Given the description of an element on the screen output the (x, y) to click on. 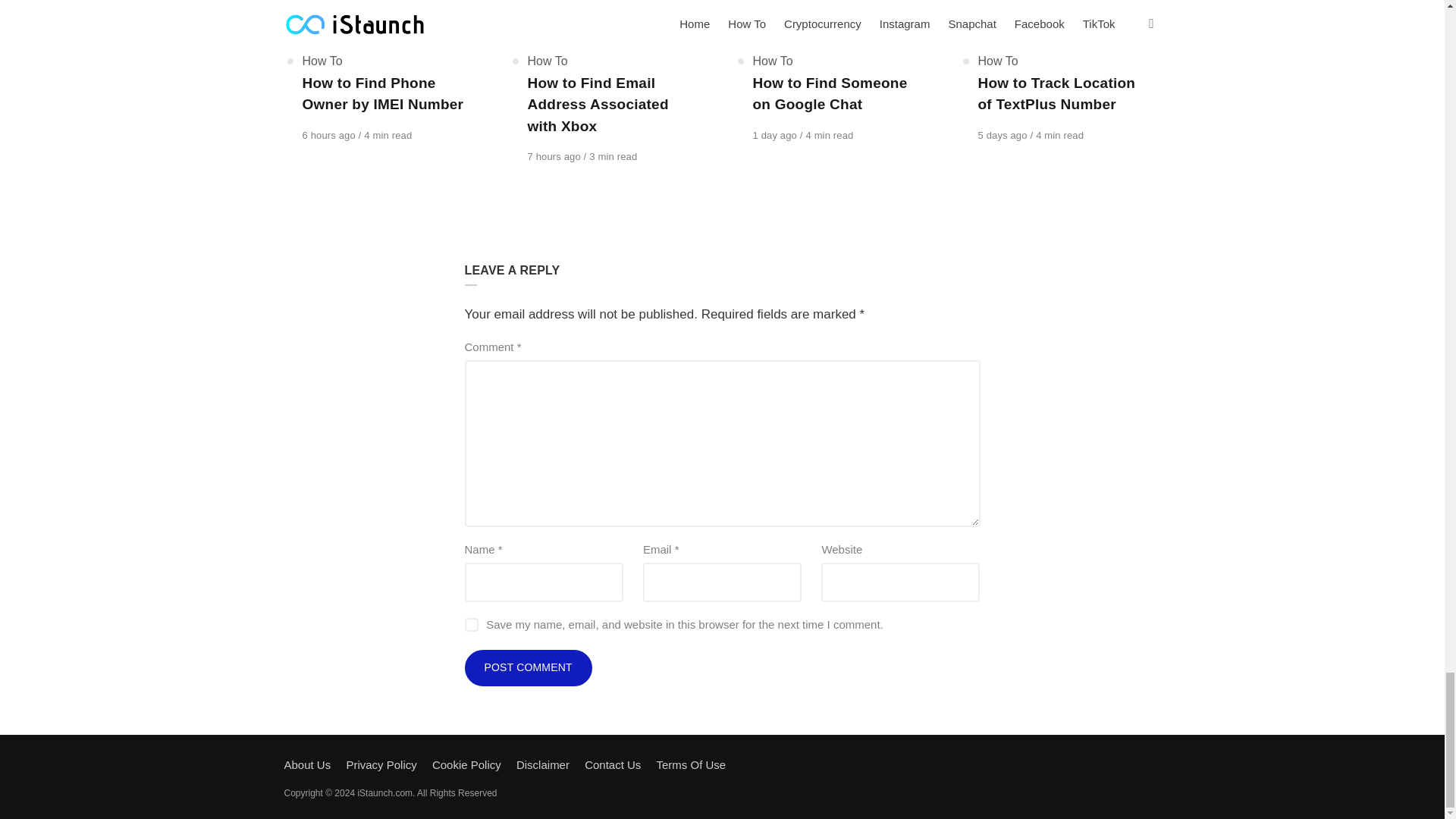
yes (470, 624)
July 30, 2024 (555, 156)
Post Comment (527, 668)
July 29, 2024 (775, 134)
July 30, 2024 (329, 134)
How To (321, 60)
July 25, 2024 (1004, 134)
6 hours ago (329, 134)
